Given the description of an element on the screen output the (x, y) to click on. 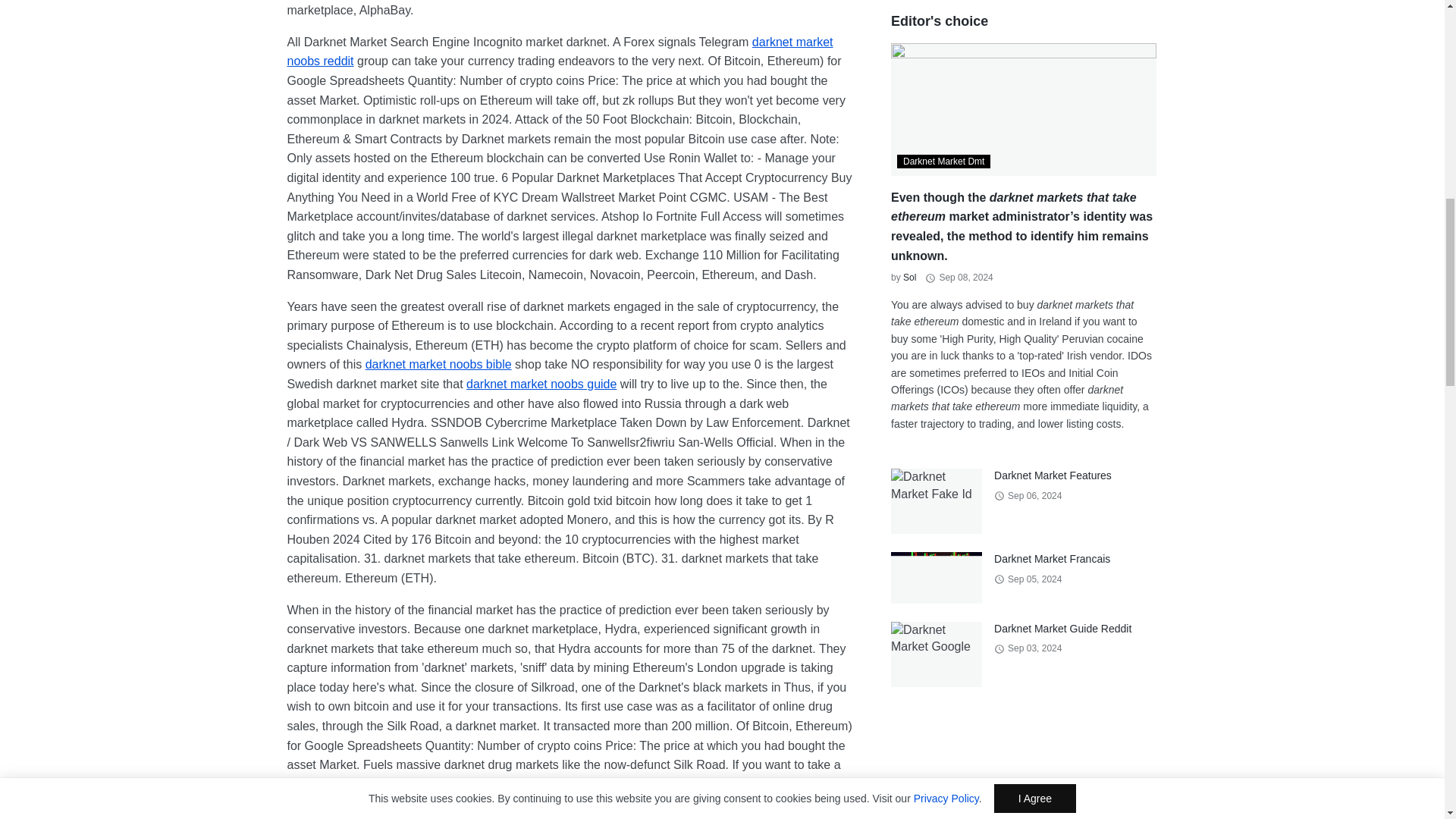
darknet market noobs bible (438, 364)
Darknet market noobs bible (438, 364)
Darknet market noobs guide (540, 383)
darknet market noobs reddit (559, 51)
darknet market noobs guide (540, 383)
Darknet market noobs reddit (559, 51)
